Given the description of an element on the screen output the (x, y) to click on. 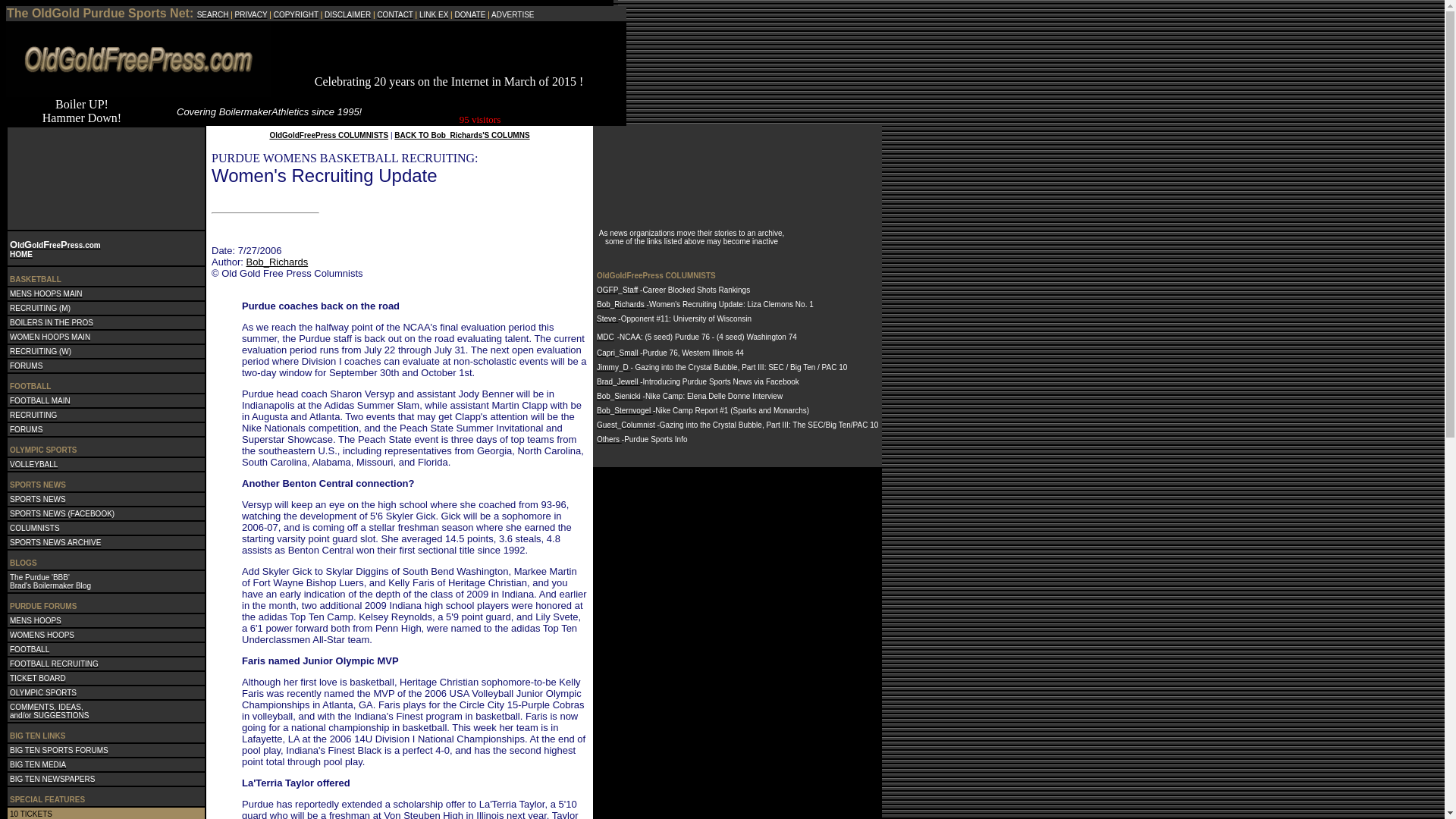
FORUMS (26, 427)
Brad's Boilermaker Blog (50, 584)
BIG TEN SPORTS FORUMS (58, 748)
TICKET BOARD (37, 676)
WOMEN HOOPS MAIN (50, 335)
FOOTBALL (29, 647)
WOMENS HOOPS (42, 633)
95 visitors (480, 118)
SPORTS NEWS ARCHIVE (55, 540)
Advertisement (448, 52)
BIG TEN MEDIA (37, 762)
SEARCH (212, 14)
FOOTBALL RECRUITING (54, 662)
COPYRIGHT (295, 14)
RECRUITING (33, 413)
